Given the description of an element on the screen output the (x, y) to click on. 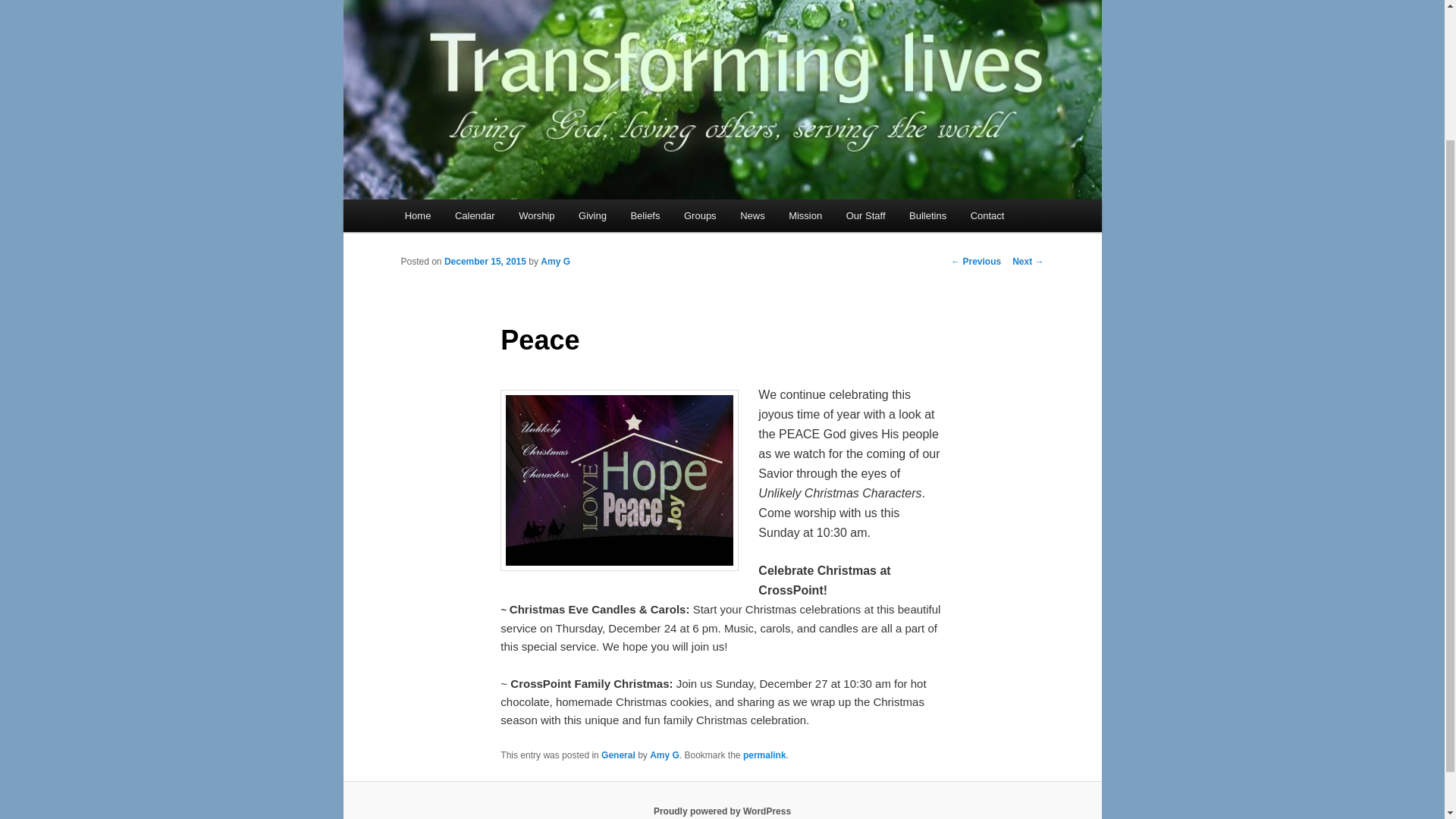
Our Staff (865, 215)
Calendar (474, 215)
Proudly powered by WordPress (721, 810)
permalink (764, 755)
Amy G (664, 755)
Contact (987, 215)
Bulletins (927, 215)
Semantic Personal Publishing Platform (721, 810)
General (617, 755)
View all posts by Amy G (555, 261)
Giving (591, 215)
Worship (536, 215)
Permalink to Peace (764, 755)
Mission (805, 215)
News (752, 215)
